Given the description of an element on the screen output the (x, y) to click on. 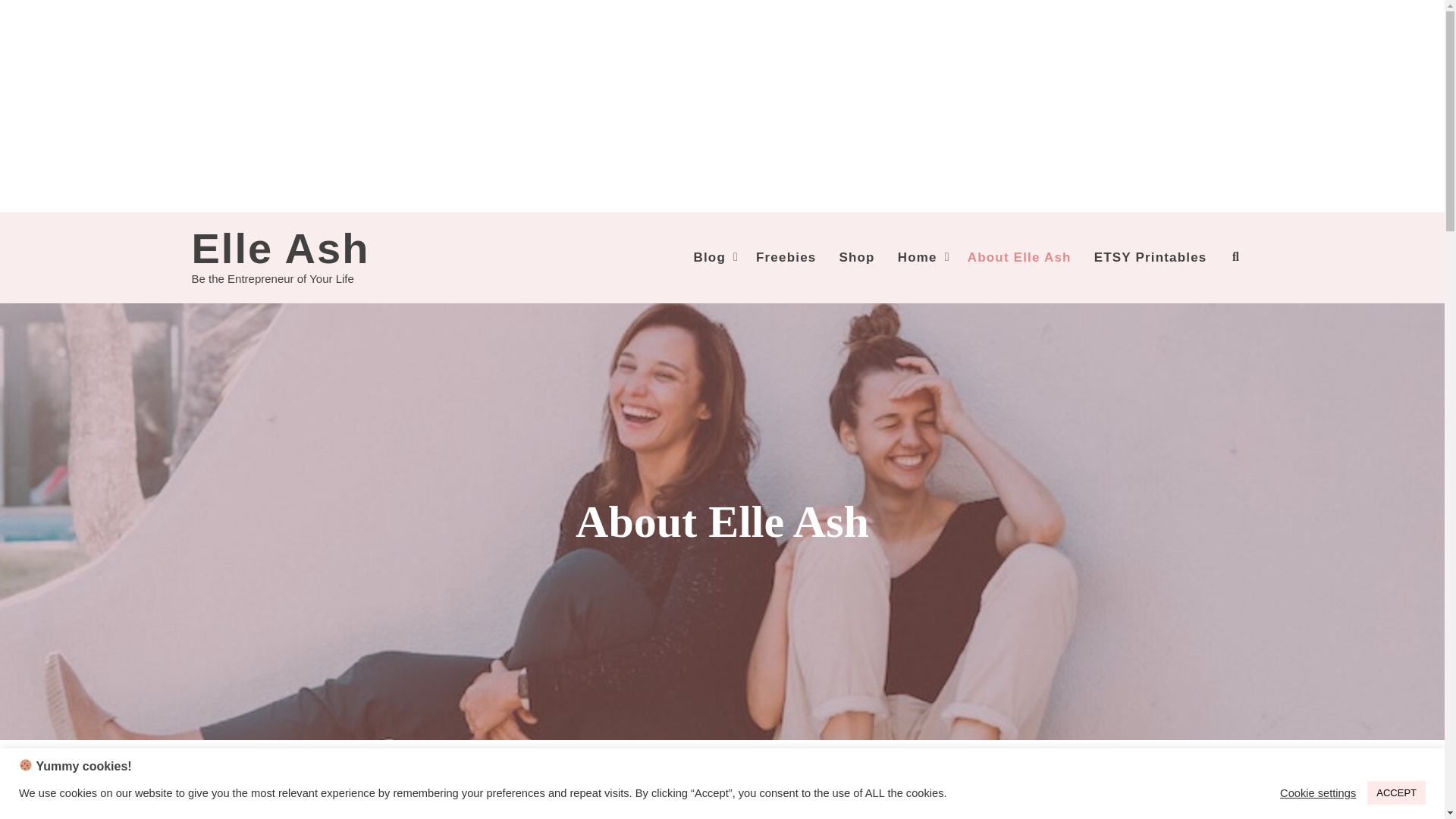
Blog (712, 257)
Elle Ash (279, 247)
